Given the description of an element on the screen output the (x, y) to click on. 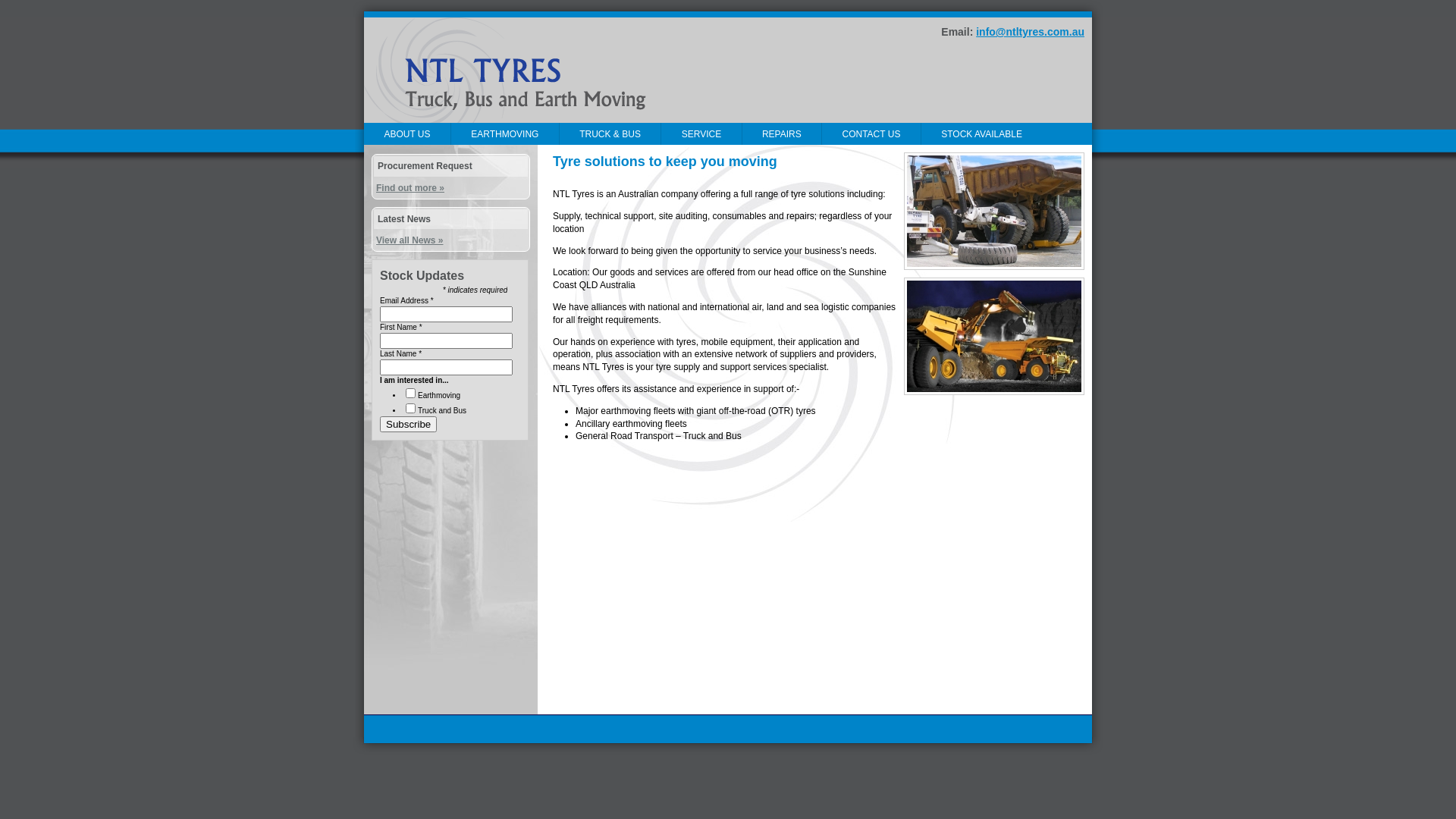
EARTHMOVING Element type: text (504, 133)
CONTACT US Element type: text (871, 133)
Procurement Request Element type: text (424, 165)
info@ntltyres.com.au Element type: text (1029, 31)
TRUCK & BUS Element type: text (609, 133)
Subscribe Element type: text (407, 424)
REPAIRS Element type: text (782, 133)
STOCK AVAILABLE Element type: text (981, 133)
SERVICE Element type: text (700, 133)
ABOUT US Element type: text (407, 133)
Latest News Element type: text (403, 218)
